Given the description of an element on the screen output the (x, y) to click on. 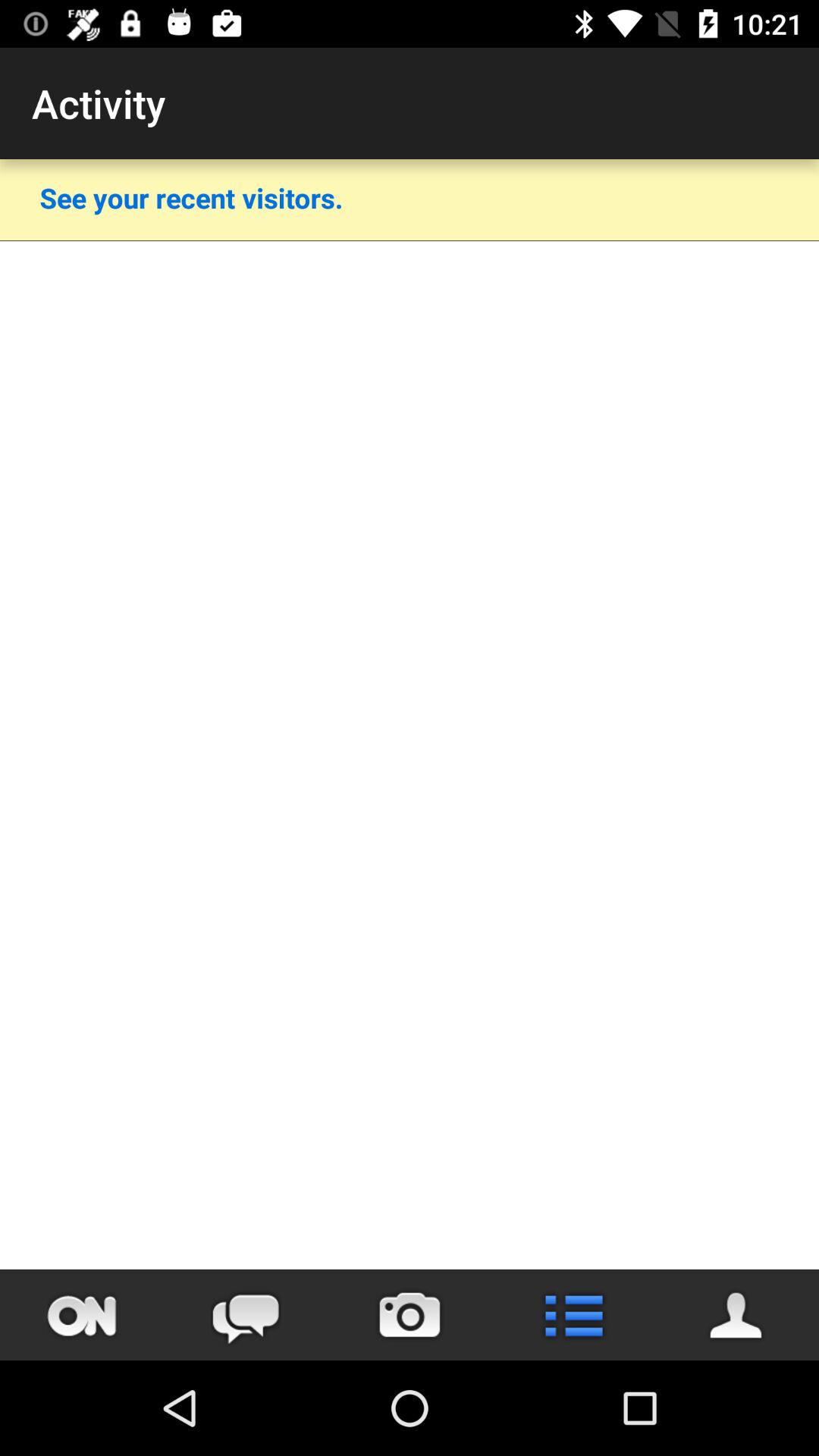
view profile (737, 1315)
